Given the description of an element on the screen output the (x, y) to click on. 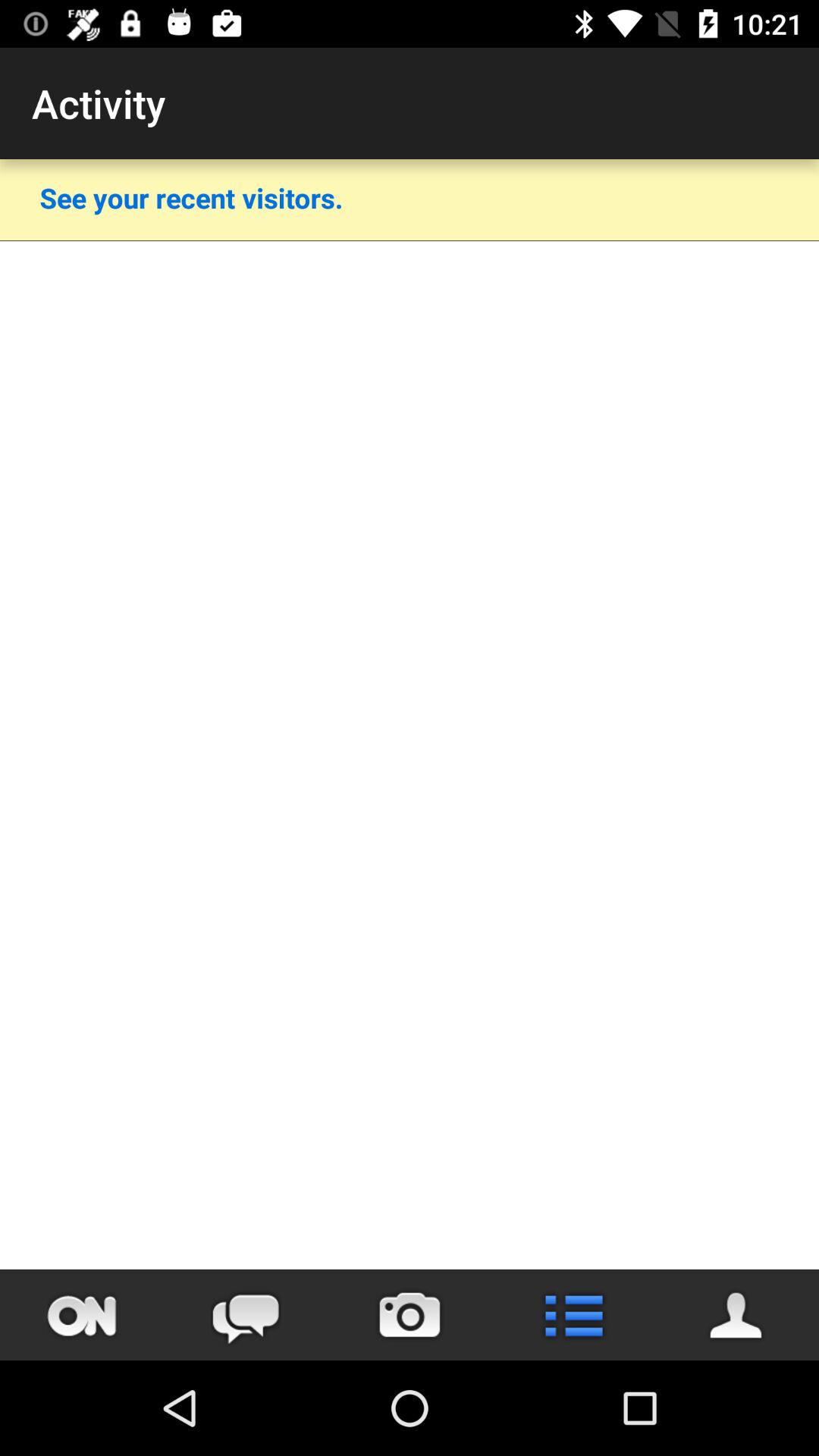
view profile (737, 1315)
